Given the description of an element on the screen output the (x, y) to click on. 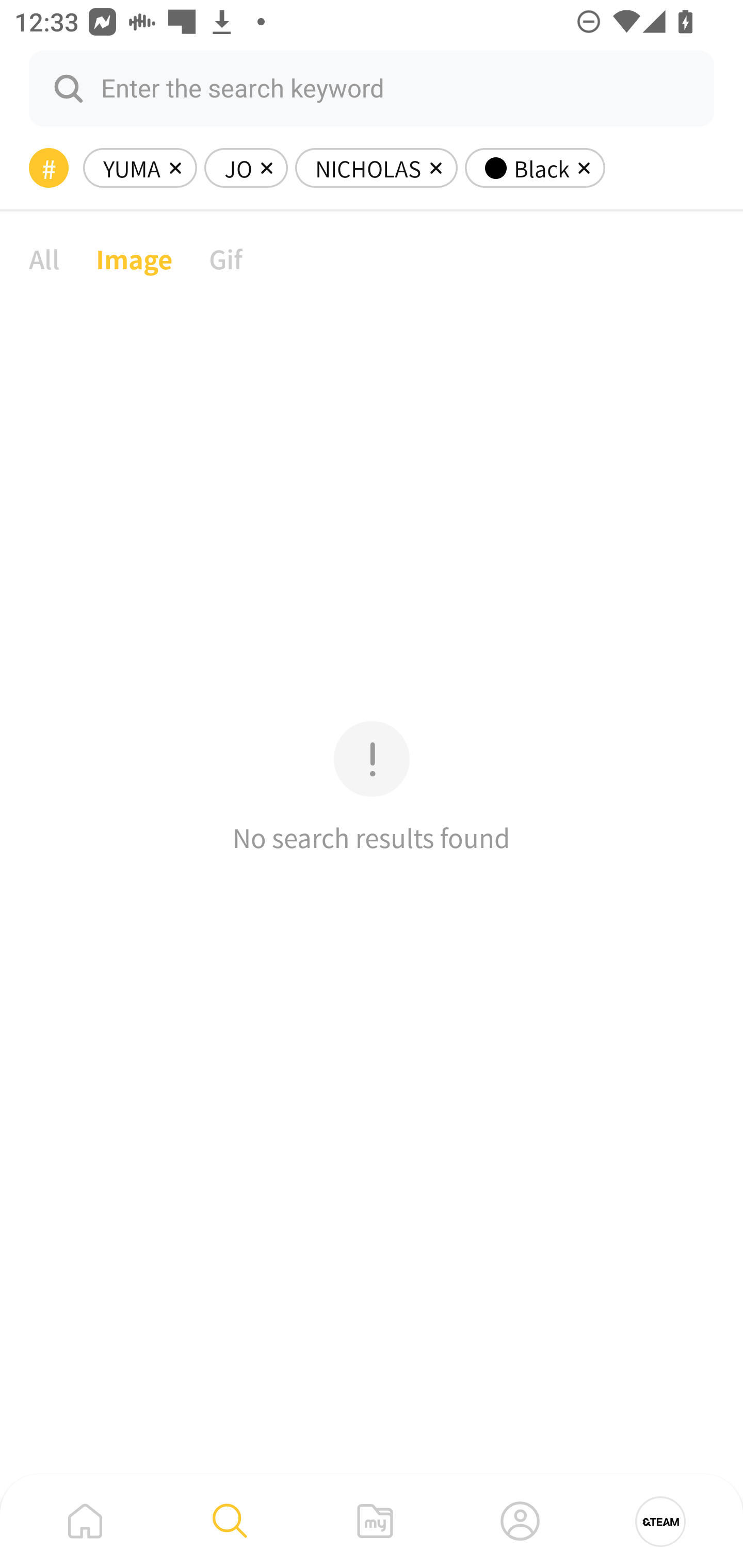
All (44, 257)
Image (134, 257)
Gif (225, 257)
